Given the description of an element on the screen output the (x, y) to click on. 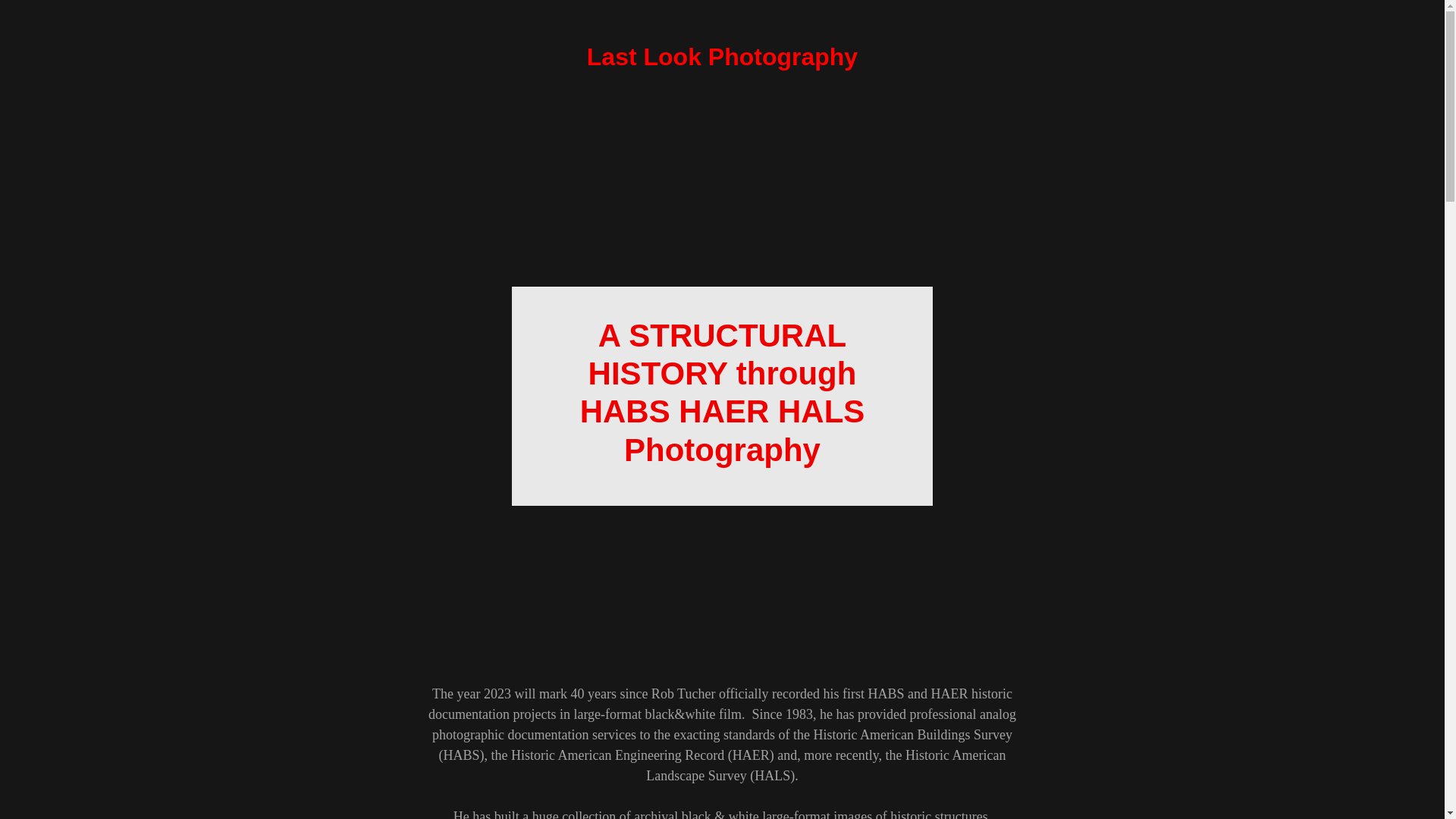
Last Look Photography (721, 60)
Last Look Photography (721, 60)
